Given the description of an element on the screen output the (x, y) to click on. 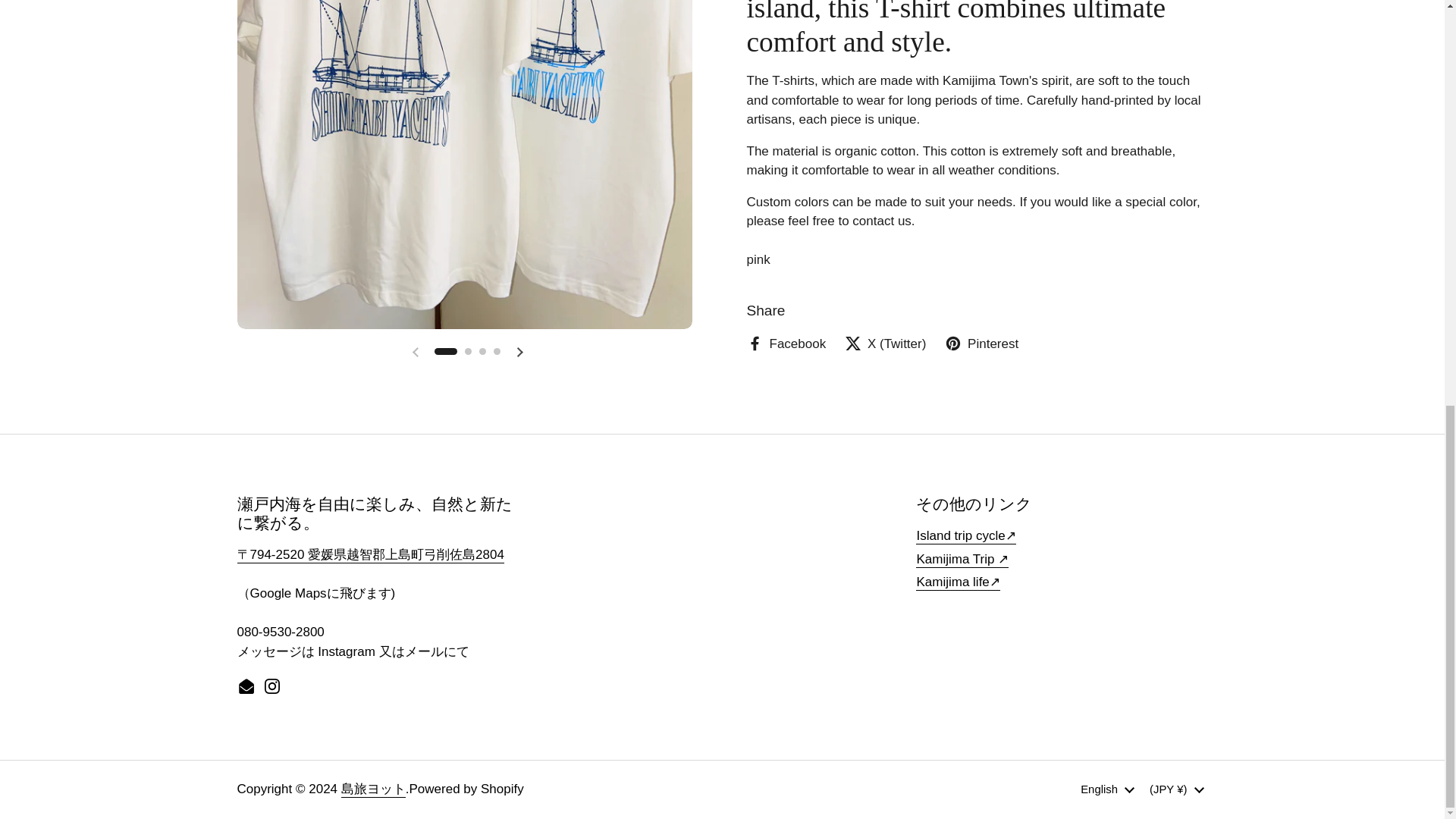
Instagram (271, 686)
English (1107, 789)
Facebook (785, 343)
Share on pinterest (980, 343)
Share on facebook (785, 343)
Pinterest (980, 343)
Share on X (885, 343)
Email (244, 686)
